Given the description of an element on the screen output the (x, y) to click on. 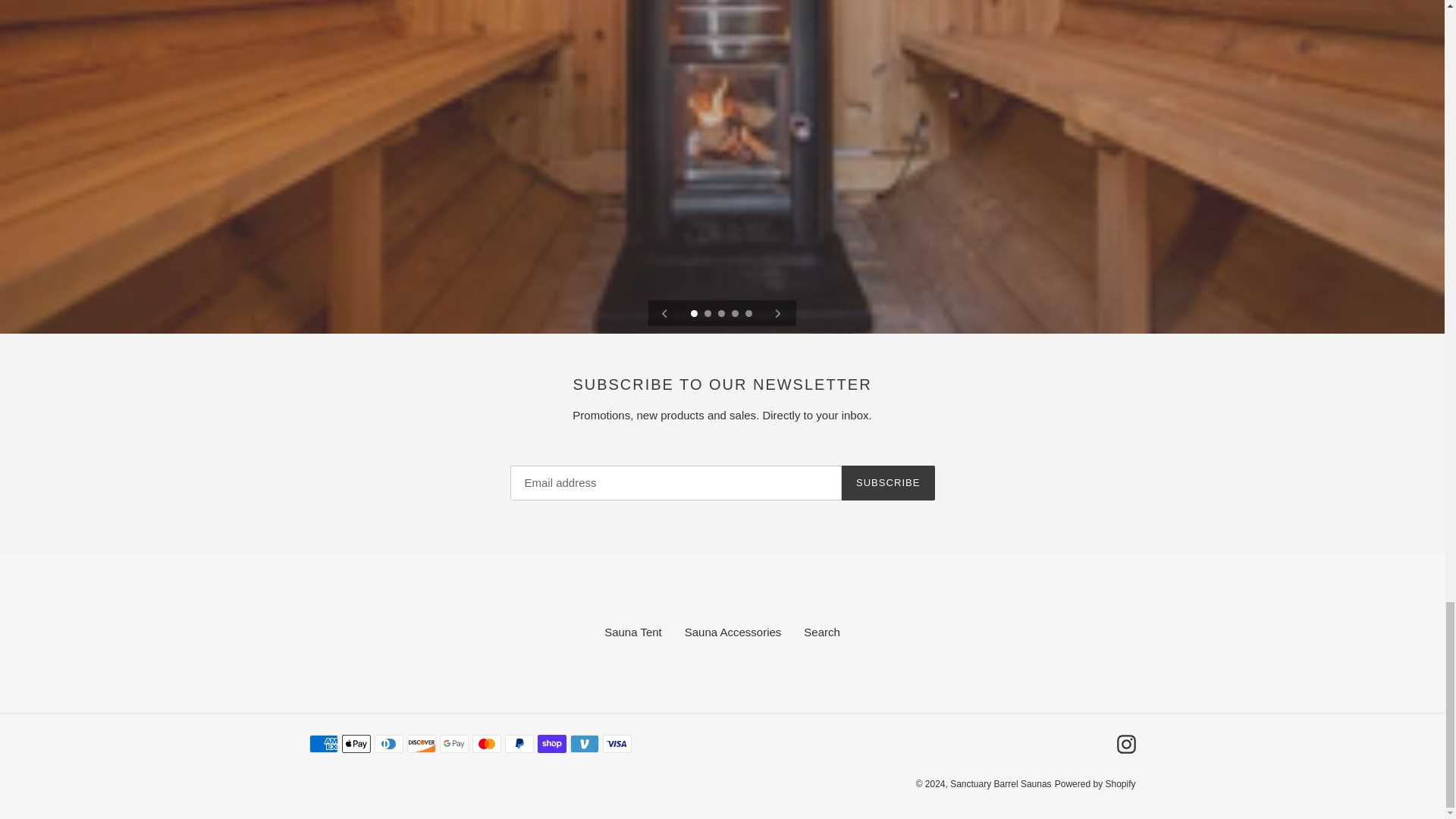
Sauna Tent (633, 631)
Sauna Accessories (732, 631)
SUBSCRIBE (887, 483)
Search (821, 631)
Instagram (1125, 743)
Sanctuary Barrel Saunas (1000, 783)
